Given the description of an element on the screen output the (x, y) to click on. 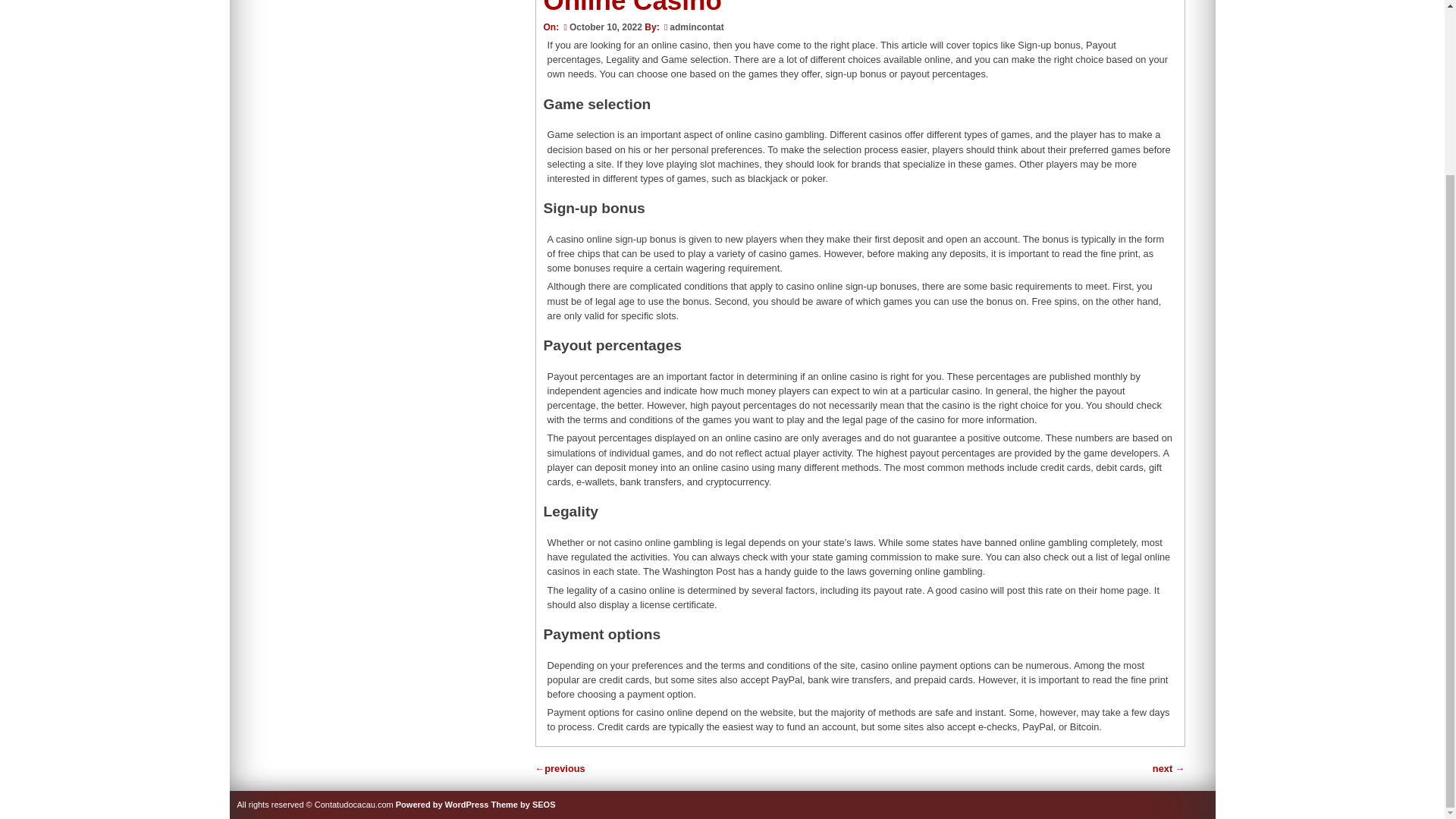
Seos free wordpress themes (524, 804)
Powered by WordPress (442, 804)
Theme by SEOS (524, 804)
admincontat (696, 27)
October 10, 2022 (601, 27)
